Given the description of an element on the screen output the (x, y) to click on. 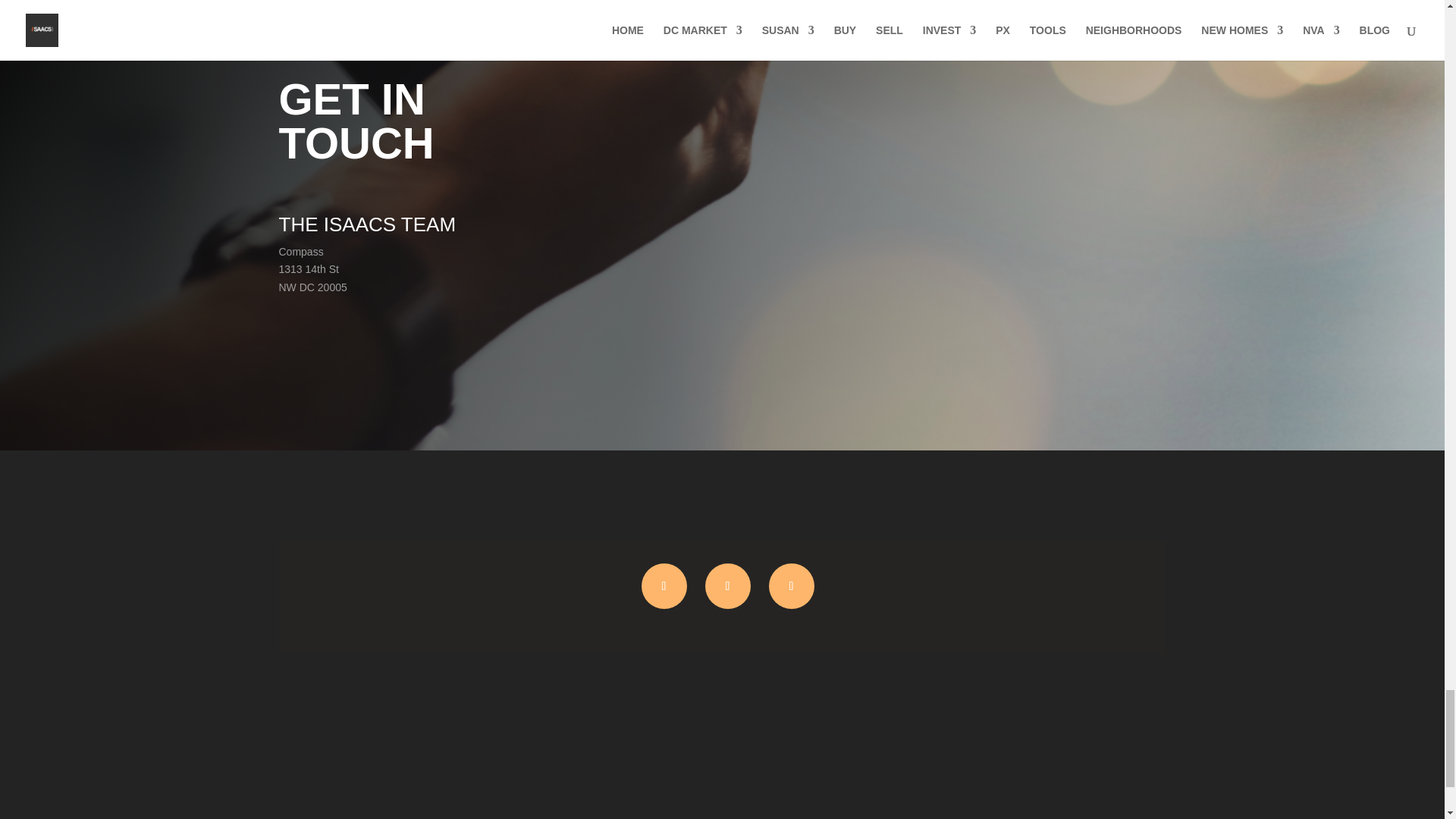
Follow on Facebook (790, 586)
Follow on LinkedIn (727, 586)
Follow on Instagram (664, 586)
